Given the description of an element on the screen output the (x, y) to click on. 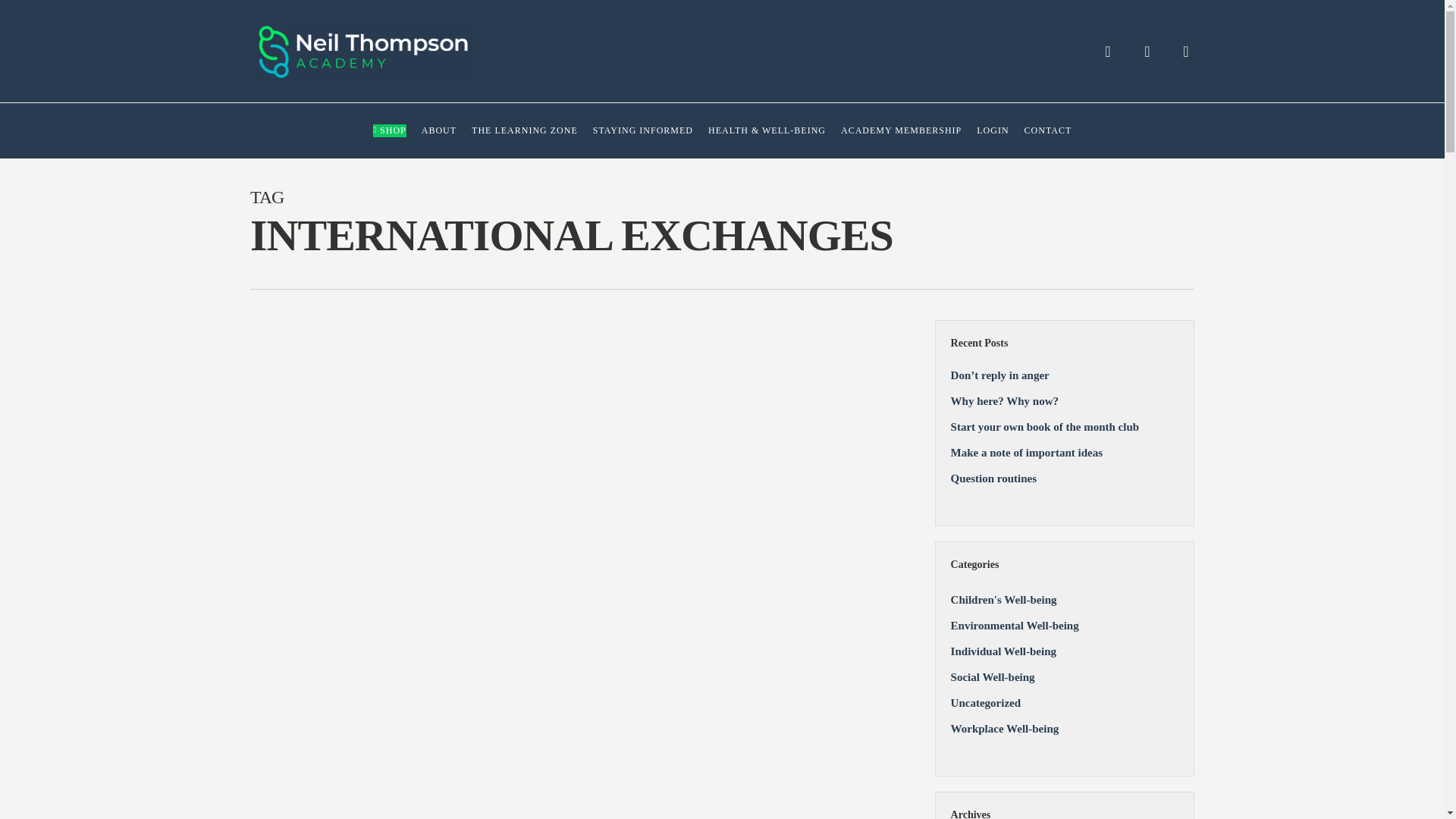
ABOUT (439, 130)
SHOP (389, 130)
search (1107, 51)
account (1147, 51)
THE LEARNING ZONE (524, 130)
